Given the description of an element on the screen output the (x, y) to click on. 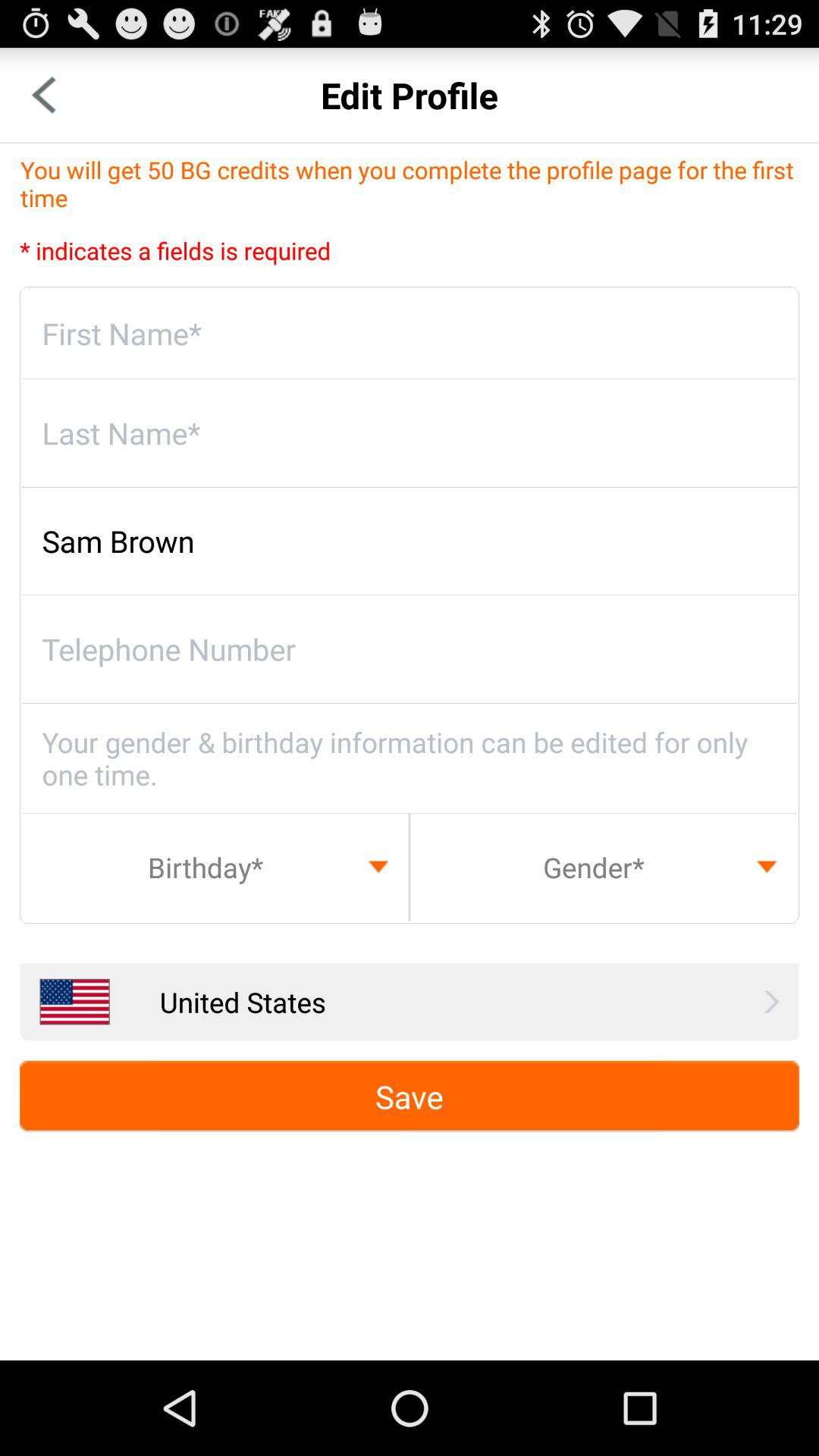
select gender (603, 867)
